Given the description of an element on the screen output the (x, y) to click on. 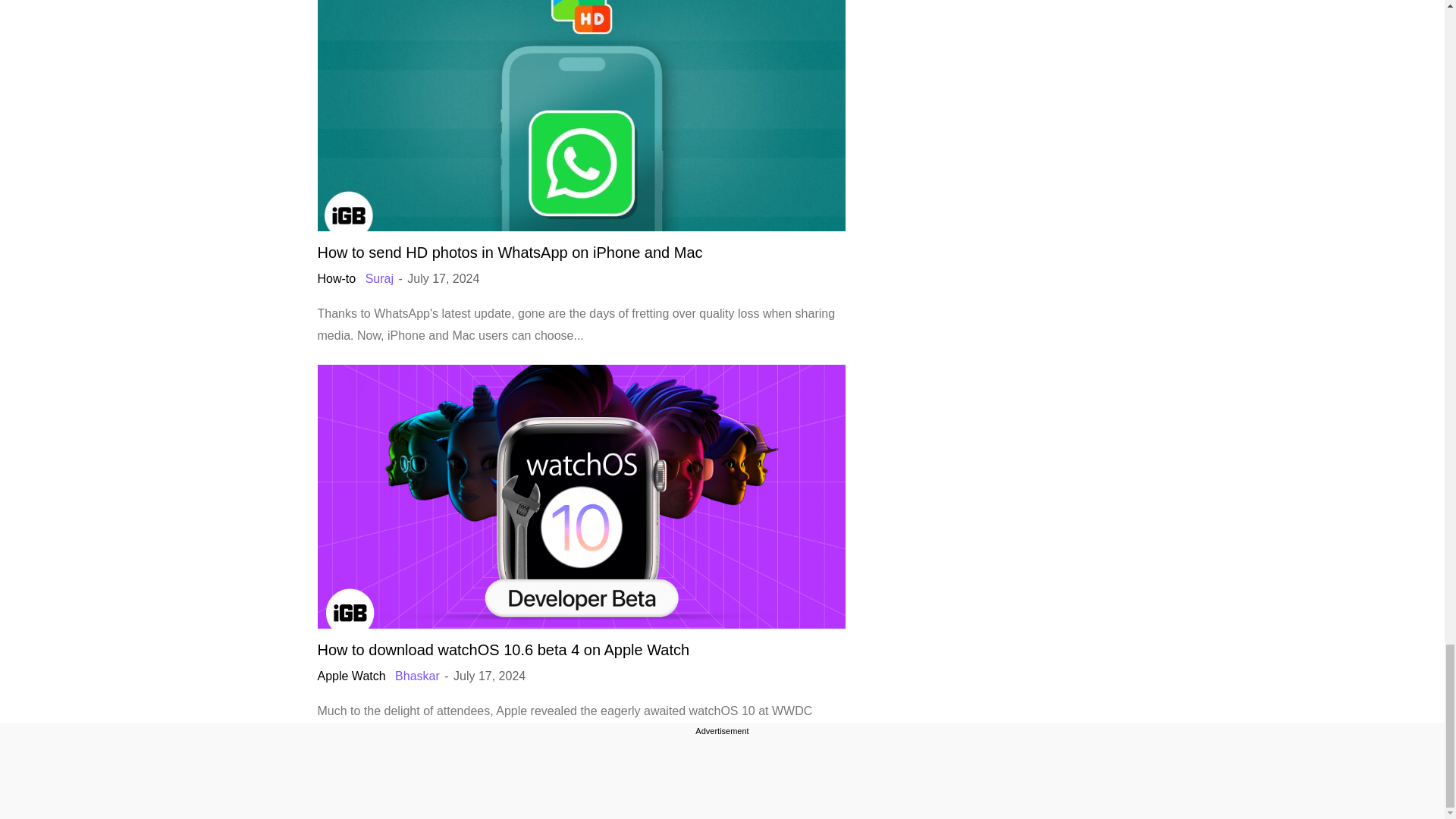
How to send HD photos in WhatsApp on iPhone and Mac (509, 252)
How to send HD photos in WhatsApp on iPhone and Mac (580, 115)
